Given the description of an element on the screen output the (x, y) to click on. 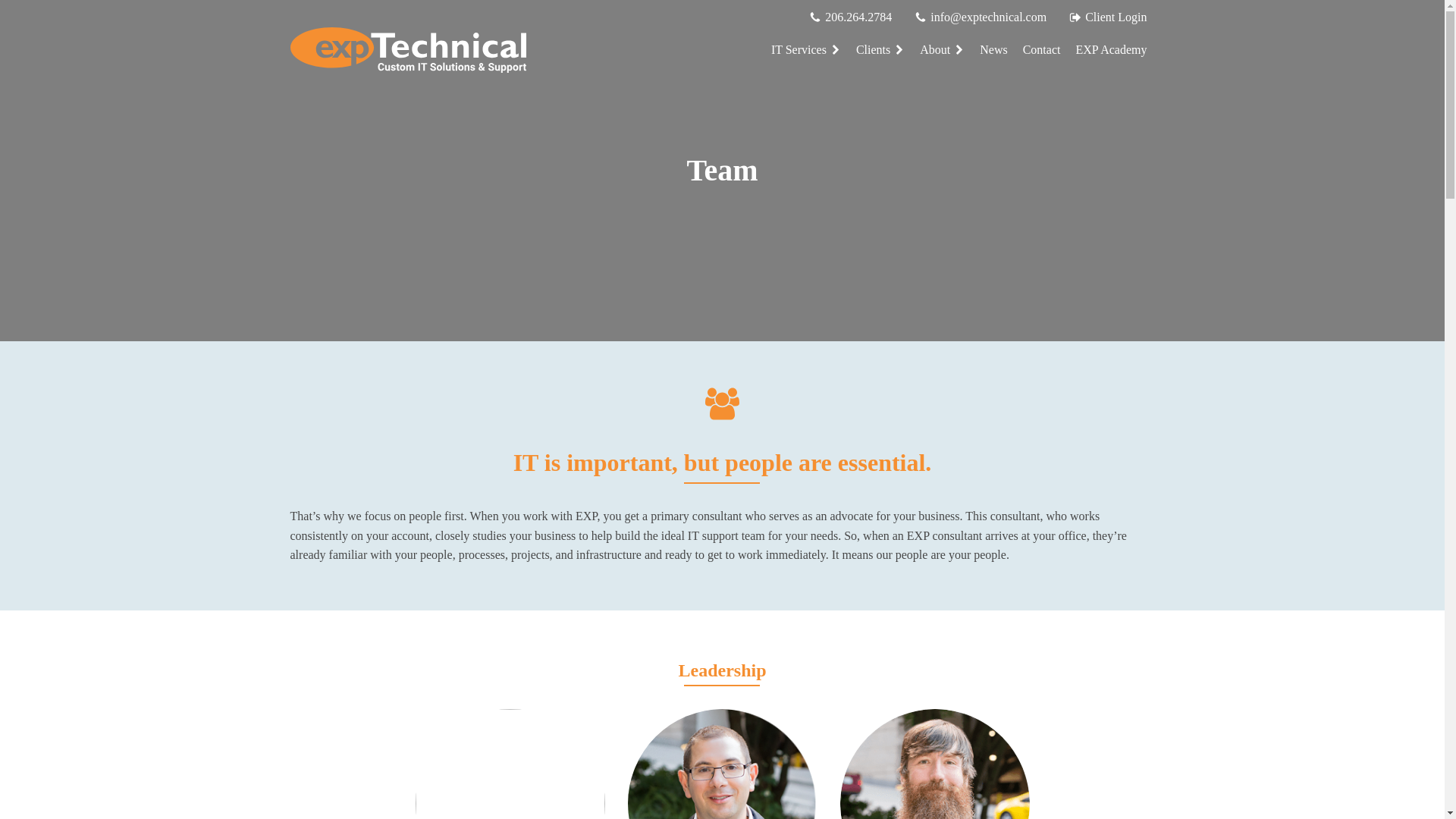
EXP Academy (1110, 49)
About (942, 49)
Contact (1041, 49)
Clients (880, 49)
News (993, 49)
206.264.2784 (858, 17)
Client Login (1115, 17)
IT Services (805, 49)
